Given the description of an element on the screen output the (x, y) to click on. 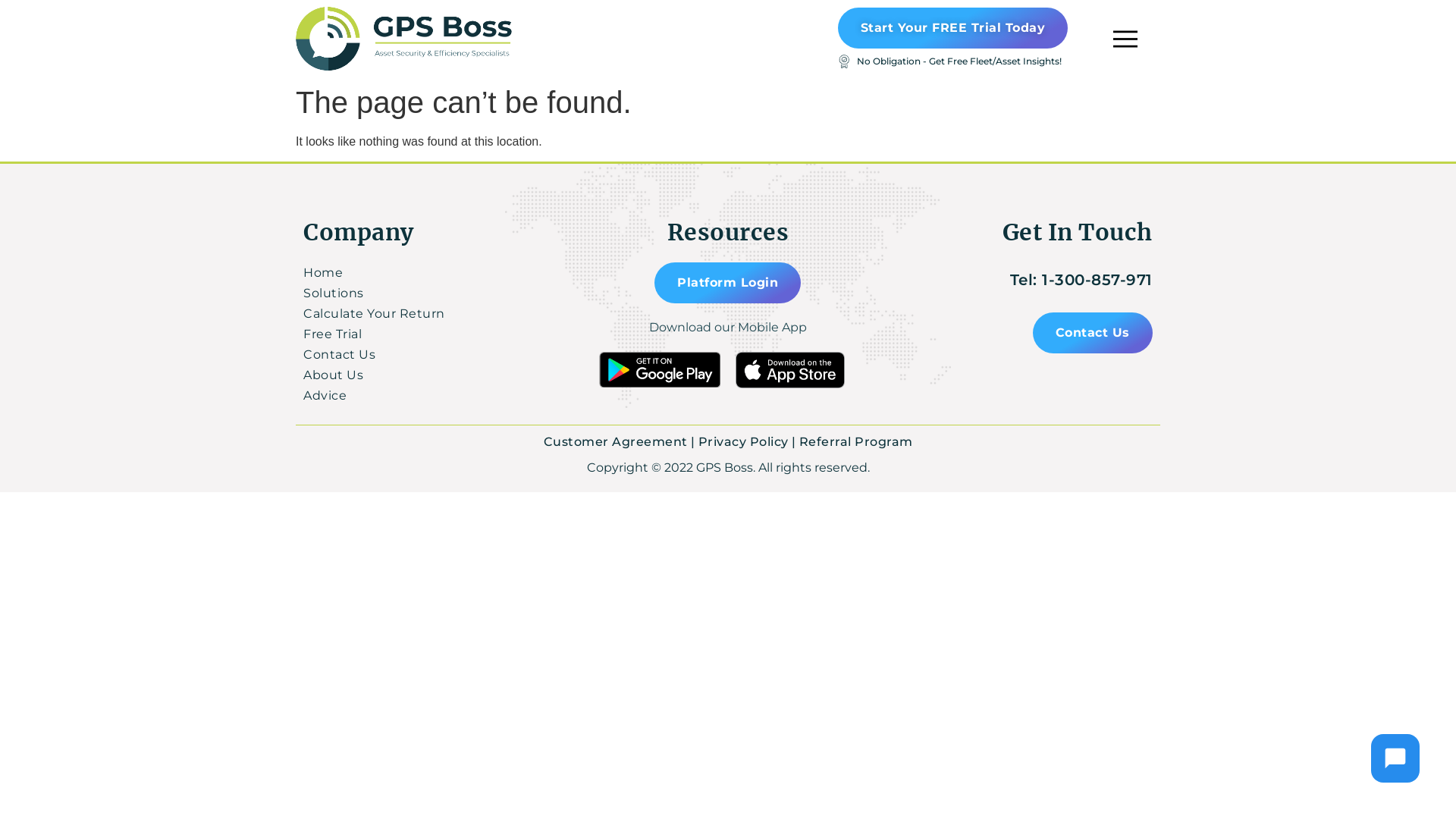
About Us Element type: text (439, 374)
Advice Element type: text (439, 395)
Customer Agreement | Element type: text (618, 441)
Contact Us Element type: text (439, 354)
Privacy Policy | Element type: text (746, 441)
Start Your FREE Trial Today Element type: text (952, 27)
Referral Program Element type: text (856, 441)
Solutions Element type: text (439, 292)
Home Element type: text (439, 272)
Free Trial Element type: text (439, 333)
Contact Us Element type: text (1092, 332)
Tel: 1-300-857-971 Element type: text (1081, 279)
Calculate Your Return Element type: text (439, 313)
Chatbot Element type: hover (1394, 757)
Platform Login Element type: text (727, 282)
